Given the description of an element on the screen output the (x, y) to click on. 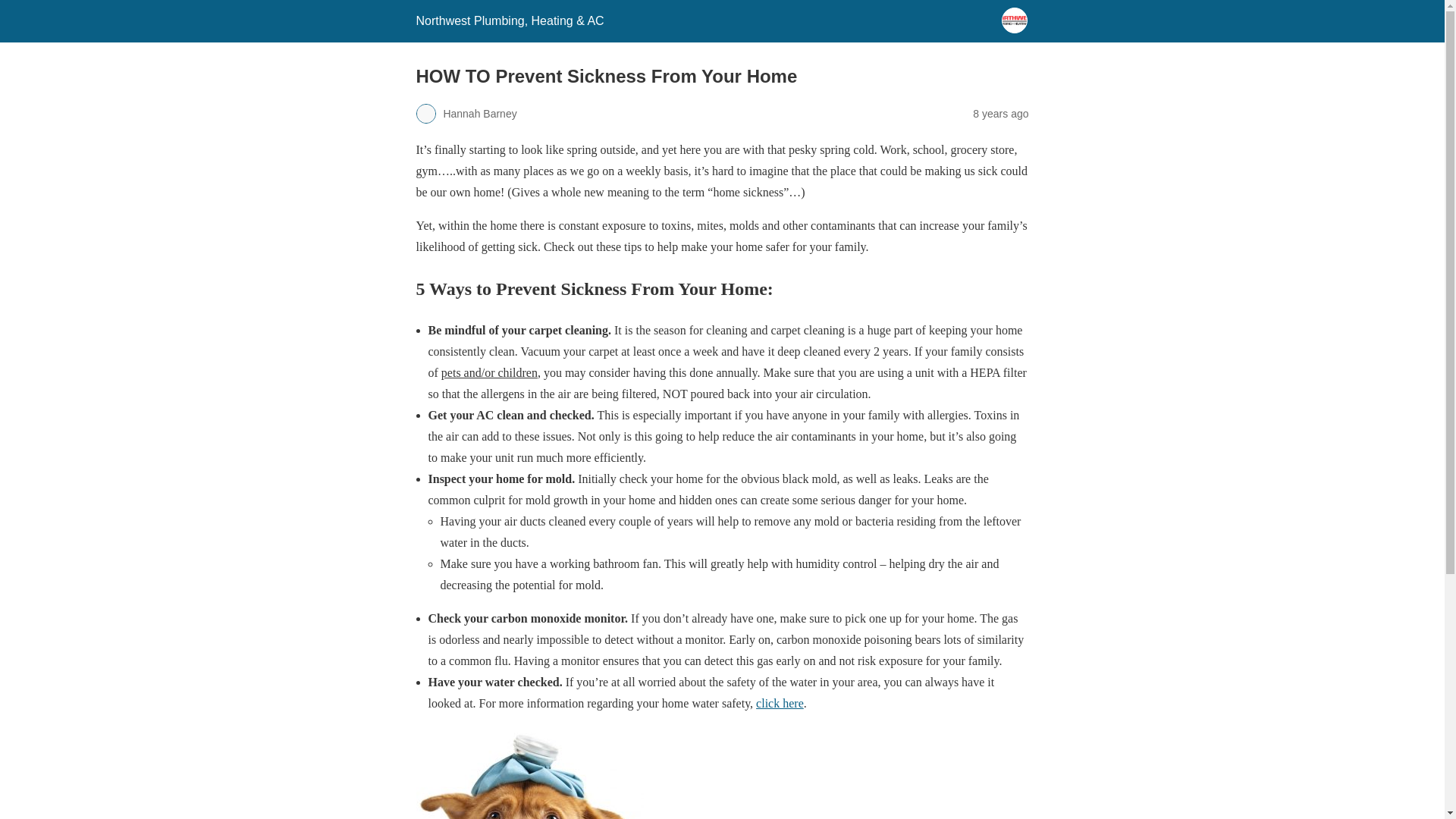
click here (779, 703)
